Given the description of an element on the screen output the (x, y) to click on. 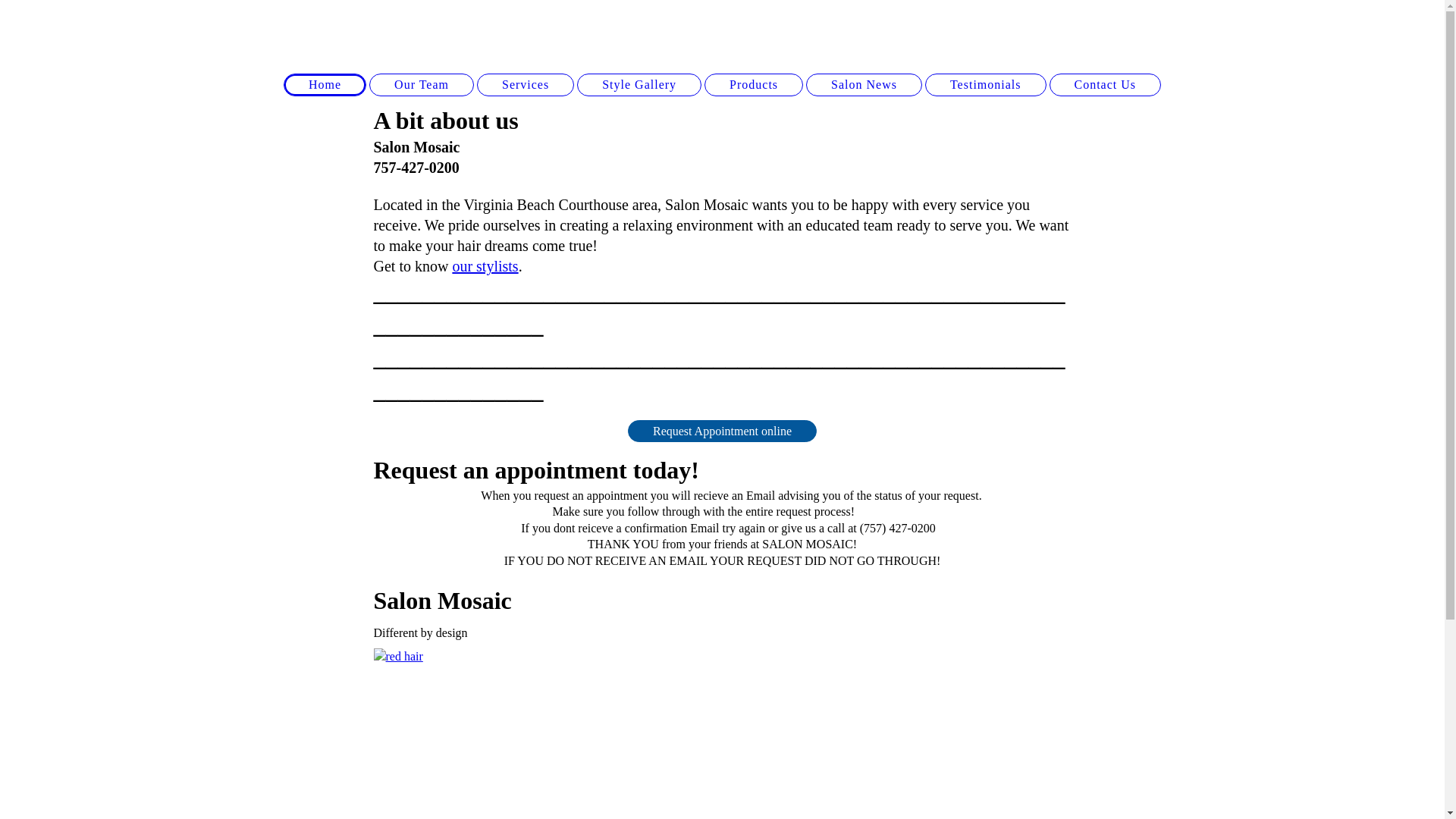
our stylists Element type: text (484, 265)
Salon News Element type: text (864, 84)
Services Element type: text (525, 84)
Request Appointment online Element type: text (721, 431)
Testimonials Element type: text (985, 84)
Our Team Element type: text (421, 84)
Home Element type: text (324, 84)
Contact Us Element type: text (1105, 84)
Products Element type: text (753, 84)
Style Gallery Element type: text (639, 84)
